Given the description of an element on the screen output the (x, y) to click on. 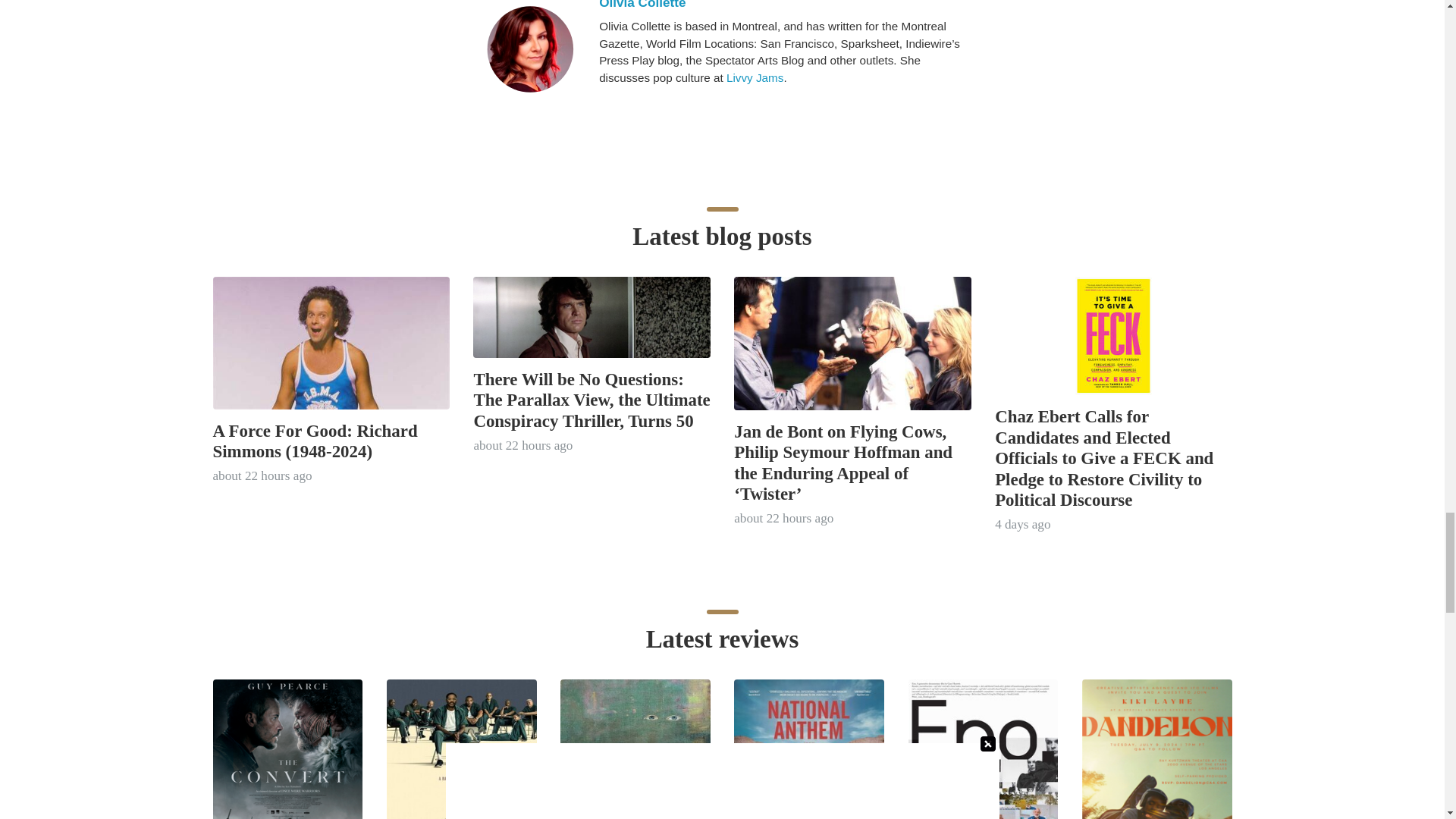
Olivia Collette (529, 48)
Olivia Collette (782, 5)
Livvy Jams (754, 77)
